Given the description of an element on the screen output the (x, y) to click on. 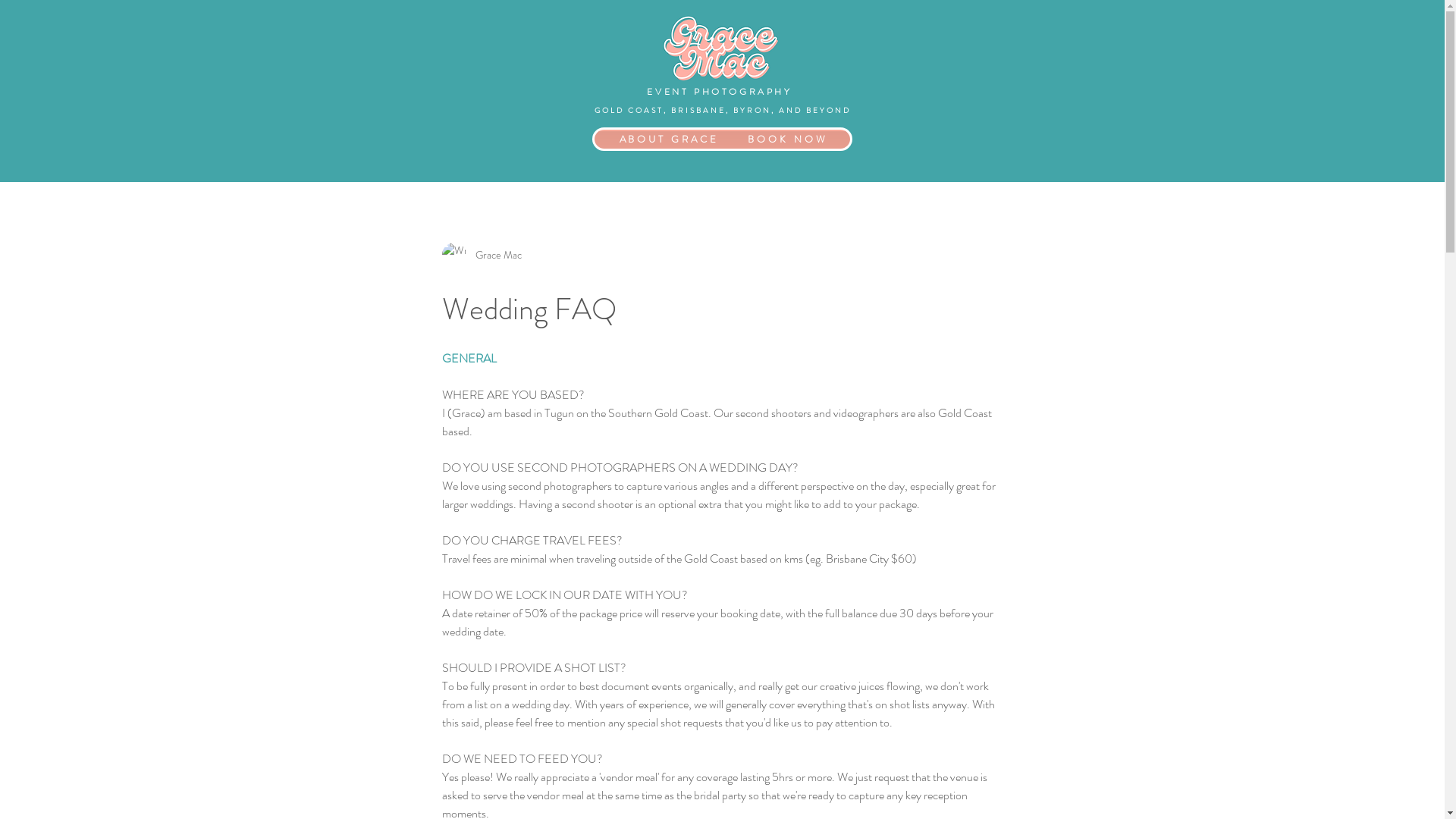
ABOUT GRACE Element type: text (668, 138)
BOOK NOW Element type: text (787, 138)
